Given the description of an element on the screen output the (x, y) to click on. 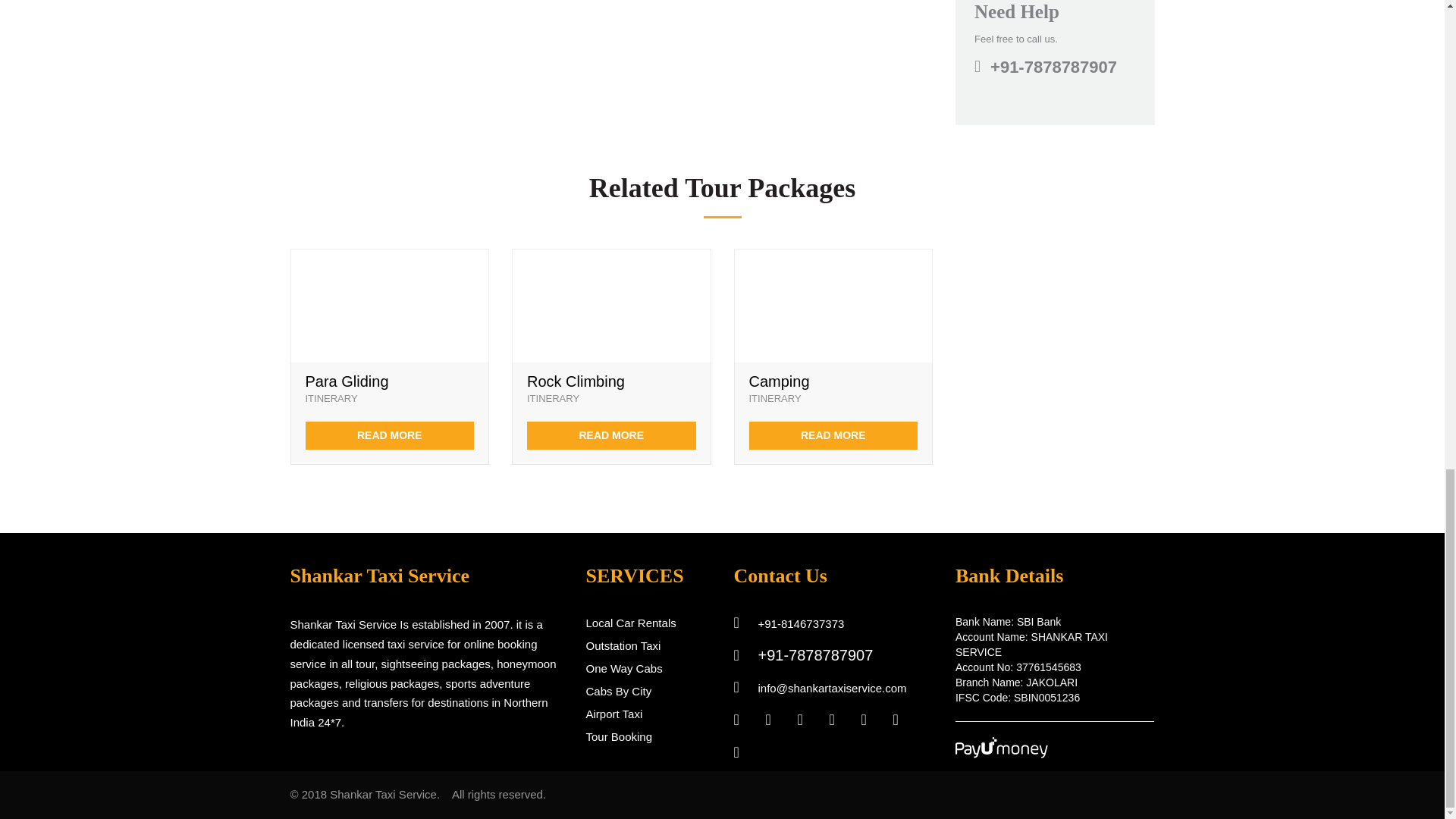
PayUmoney (1003, 753)
PayUmoney logo (1001, 747)
